Given the description of an element on the screen output the (x, y) to click on. 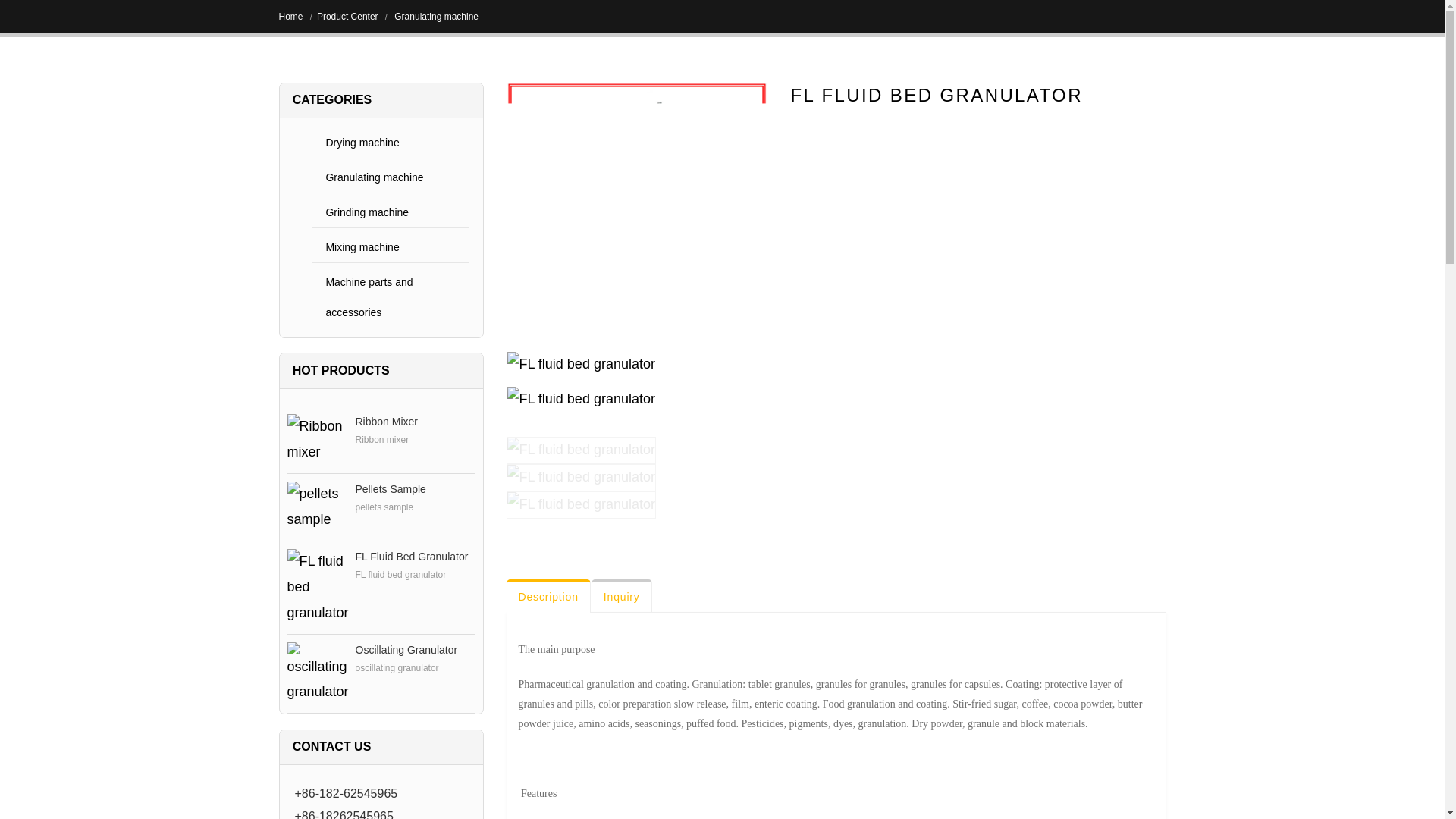
Granulating machine (389, 177)
Home (290, 16)
FL fluid bed granulator (411, 556)
Granulating machine (389, 177)
Grinding machine (389, 212)
Machine parts and accessories (389, 297)
pellets sample (316, 507)
pellets sample (390, 489)
Drying machine (389, 142)
Granulating machine (435, 16)
Product Center (347, 16)
Ribbon mixer (385, 421)
Ribbon mixer (316, 440)
Mixing machine (389, 246)
Description (548, 595)
